Given the description of an element on the screen output the (x, y) to click on. 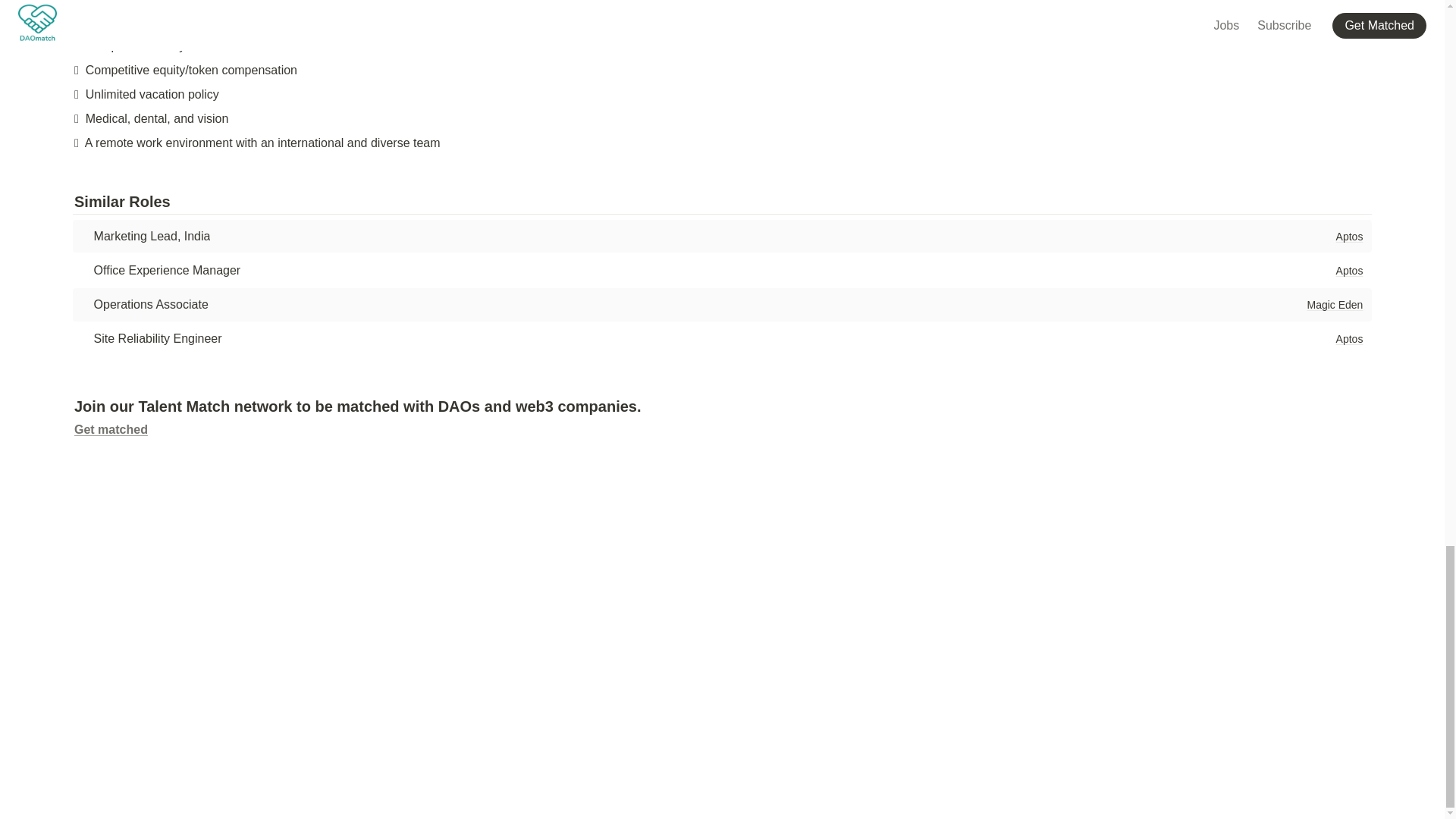
Magic Eden (1334, 304)
Aptos (1349, 338)
Aptos (1349, 270)
Aptos (1349, 236)
Get matched (111, 429)
